Given the description of an element on the screen output the (x, y) to click on. 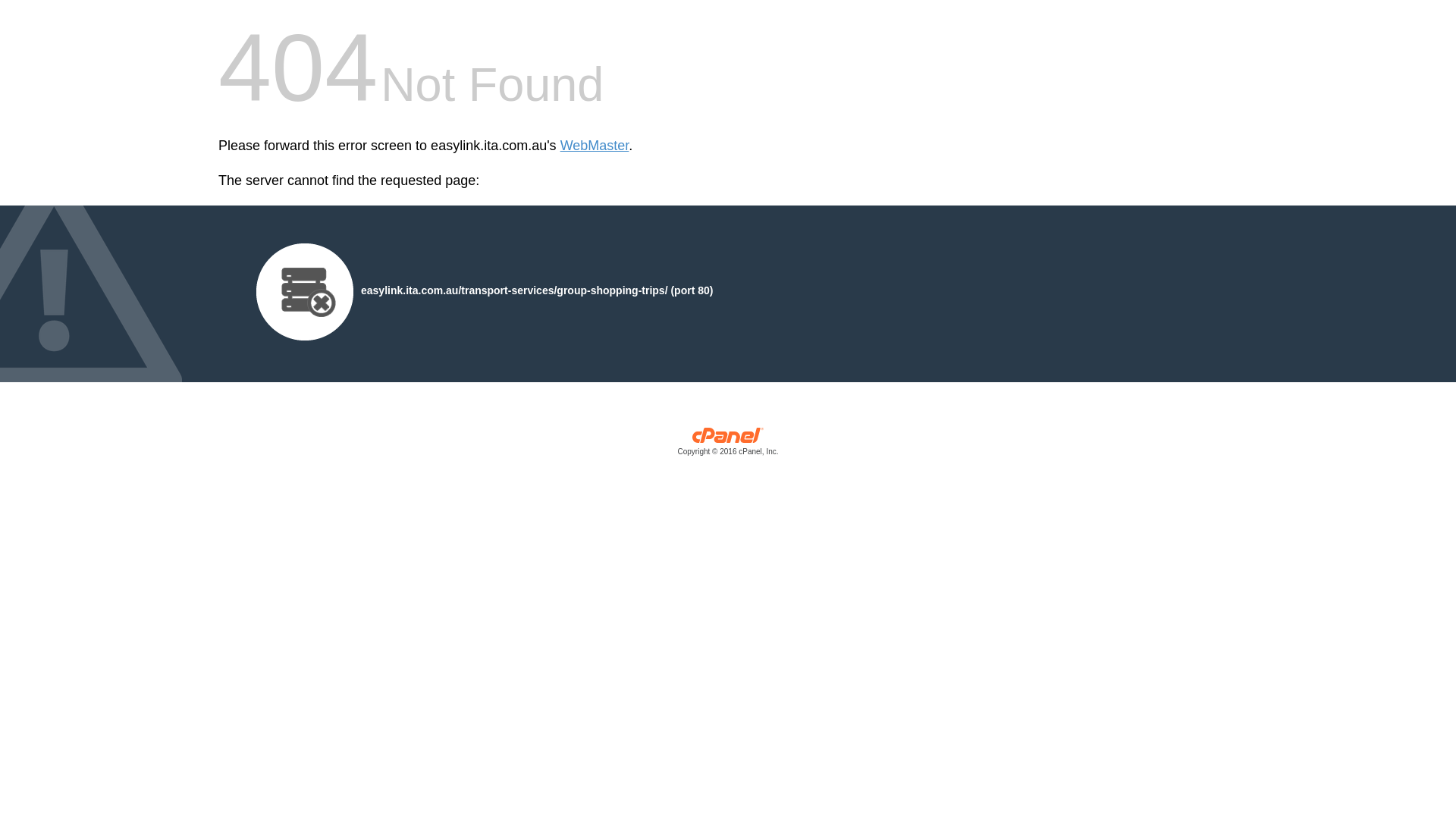
WebMaster Element type: text (594, 145)
